Given the description of an element on the screen output the (x, y) to click on. 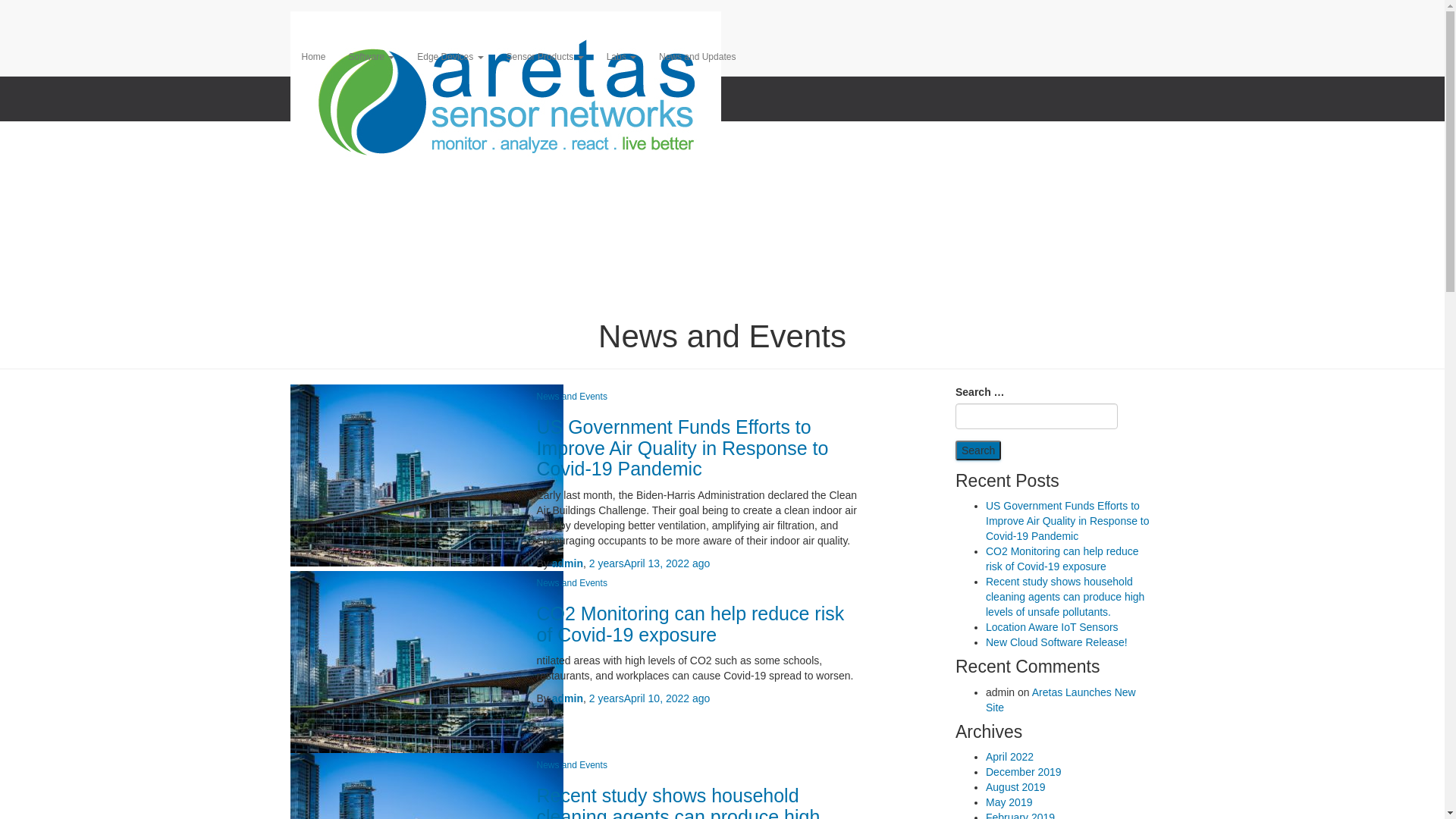
2 yearsApril 13, 2022 ago Element type: text (649, 563)
Software Element type: text (371, 56)
1-877-218-6232 Element type: text (721, 15)
Search Element type: text (978, 450)
May 2019 Element type: text (1008, 802)
admin Element type: text (567, 563)
Aretas Sensor Networks Element type: hover (505, 18)
admin Element type: text (567, 698)
News and Updates Element type: text (696, 56)
December 2019 Element type: text (1023, 771)
Aretas For Developers Element type: text (721, 75)
CO2 Monitoring can help reduce risk of Covid-19 exposure Element type: hover (425, 661)
Aretas Launches New Site Element type: text (1060, 699)
News and Events Element type: text (571, 582)
August 2019 Element type: text (1015, 787)
News and Events Element type: text (571, 764)
Research and Development Element type: text (721, 45)
Location Aware IoT Sensors Element type: text (1051, 627)
New Cloud Software Release! Element type: text (1056, 642)
Labs Element type: text (621, 56)
News and Events Element type: text (571, 396)
2 yearsApril 10, 2022 ago Element type: text (649, 698)
Edge Devices Element type: text (449, 56)
Sensor Products Element type: text (545, 56)
April 2022 Element type: text (1009, 756)
Knowledge Base Element type: text (721, 106)
CO2 Monitoring can help reduce risk of Covid-19 exposure Element type: text (1062, 558)
Home Element type: text (312, 56)
CO2 Monitoring can help reduce risk of Covid-19 exposure Element type: text (690, 623)
